Given the description of an element on the screen output the (x, y) to click on. 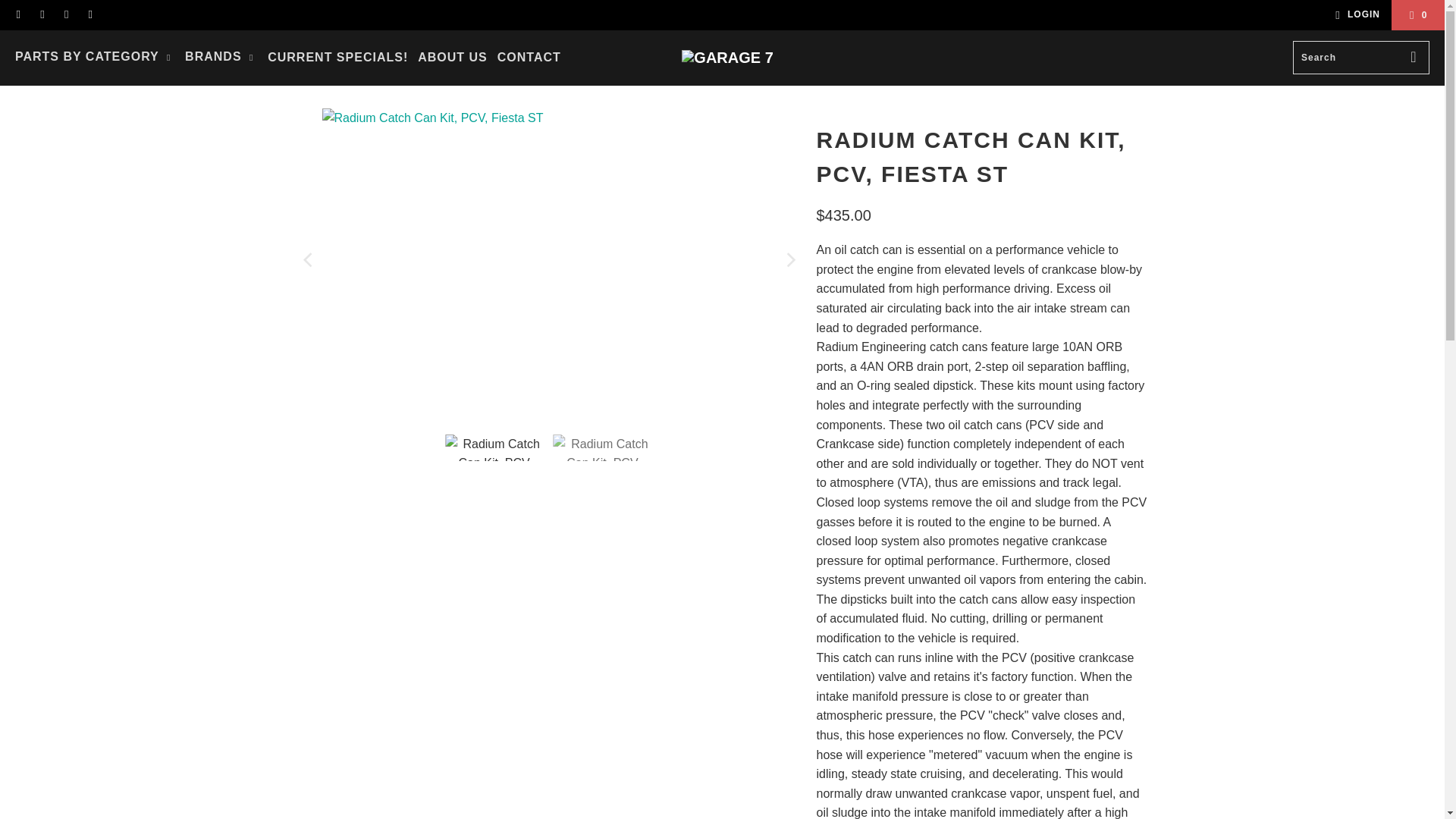
Garage 7 on LinkedIn (89, 14)
Garage 7 (727, 57)
Garage 7 on Facebook (41, 14)
My Account  (1355, 14)
Garage 7 on Instagram (65, 14)
Email Garage 7 (17, 14)
